Given the description of an element on the screen output the (x, y) to click on. 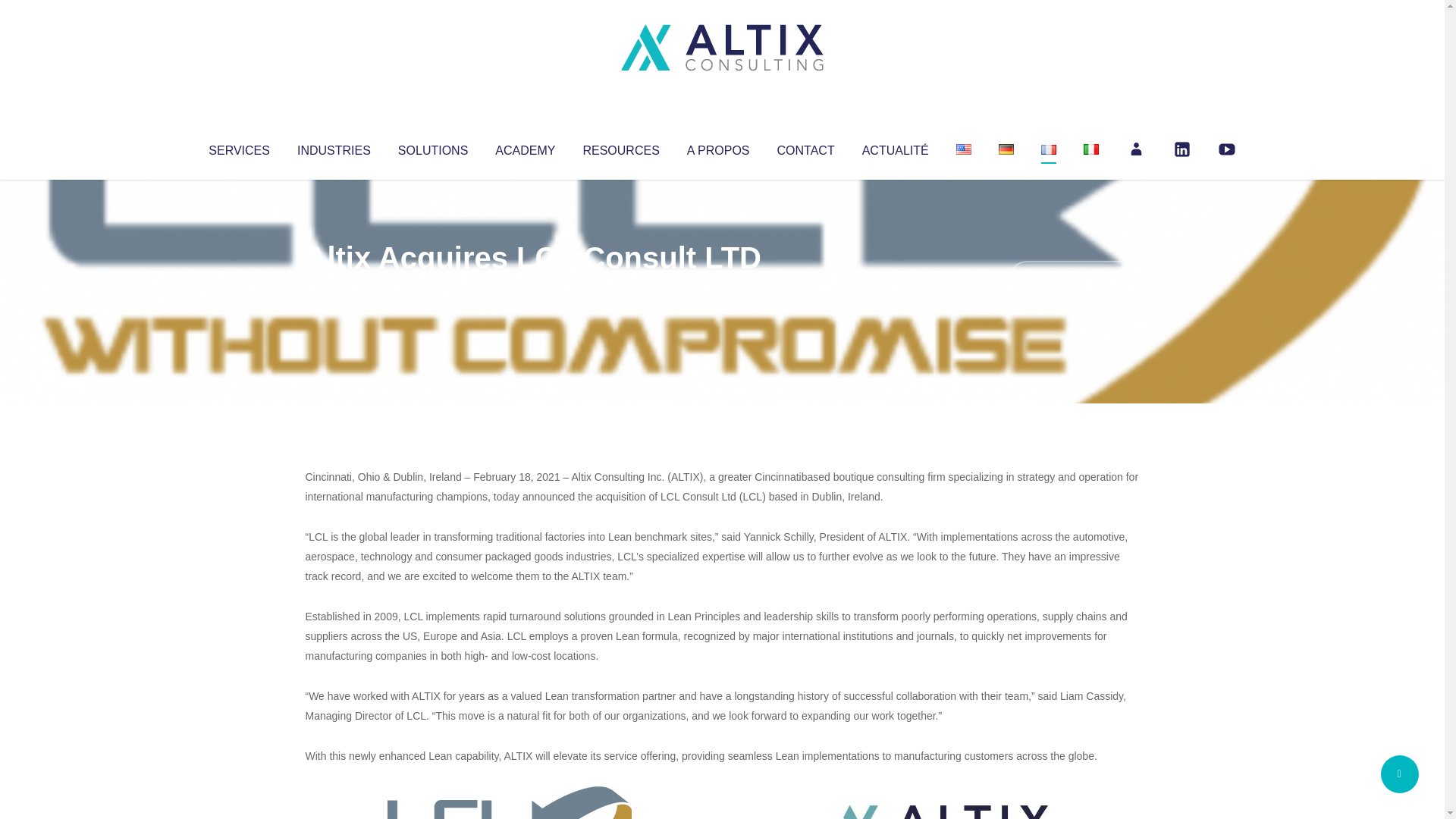
No Comments (1073, 278)
Articles par Altix (333, 287)
RESOURCES (620, 146)
ACADEMY (524, 146)
INDUSTRIES (334, 146)
A PROPOS (718, 146)
SOLUTIONS (432, 146)
Uncategorized (530, 287)
SERVICES (238, 146)
Altix (333, 287)
